Given the description of an element on the screen output the (x, y) to click on. 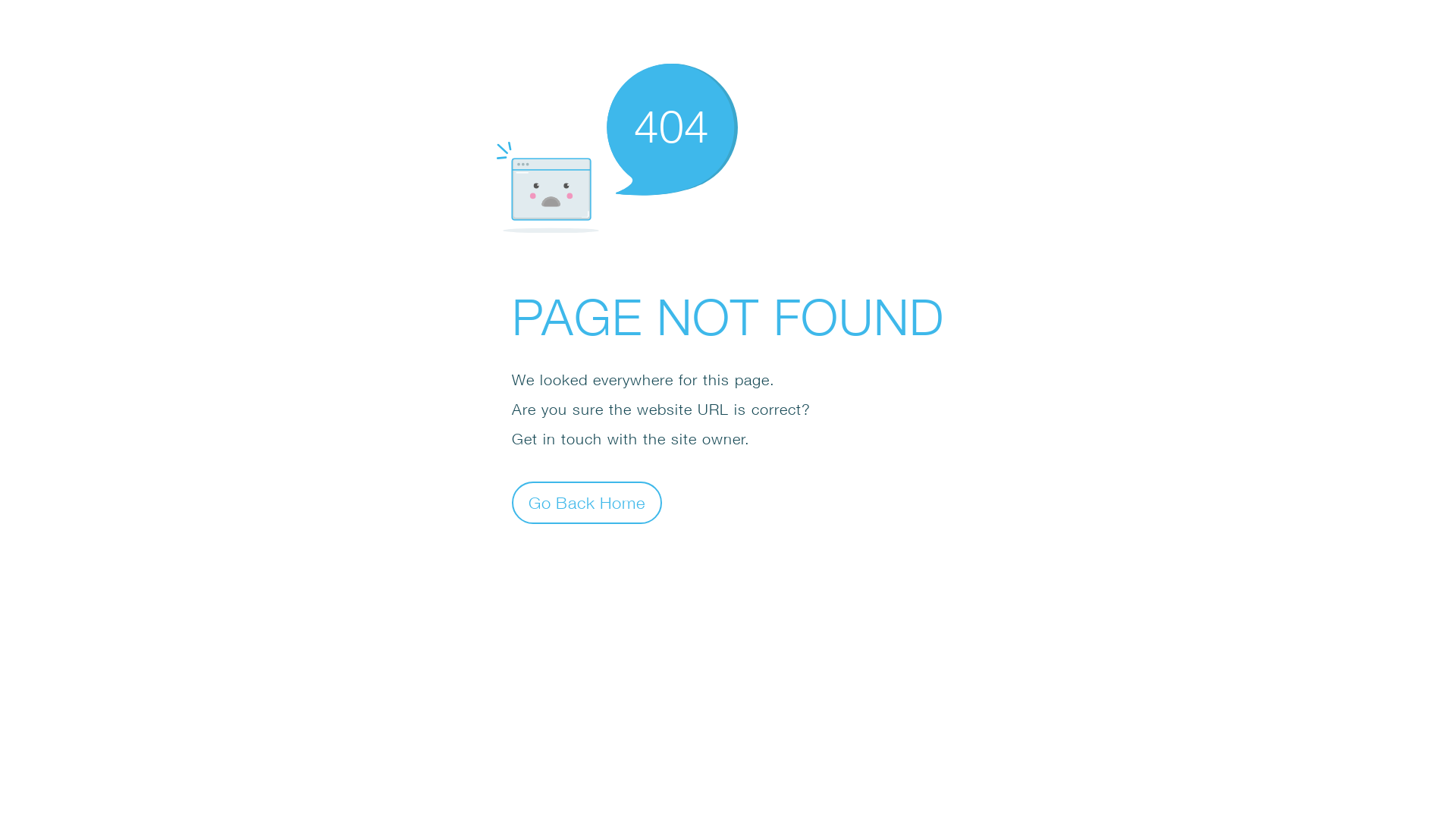
Go Back Home Element type: text (586, 502)
